Given the description of an element on the screen output the (x, y) to click on. 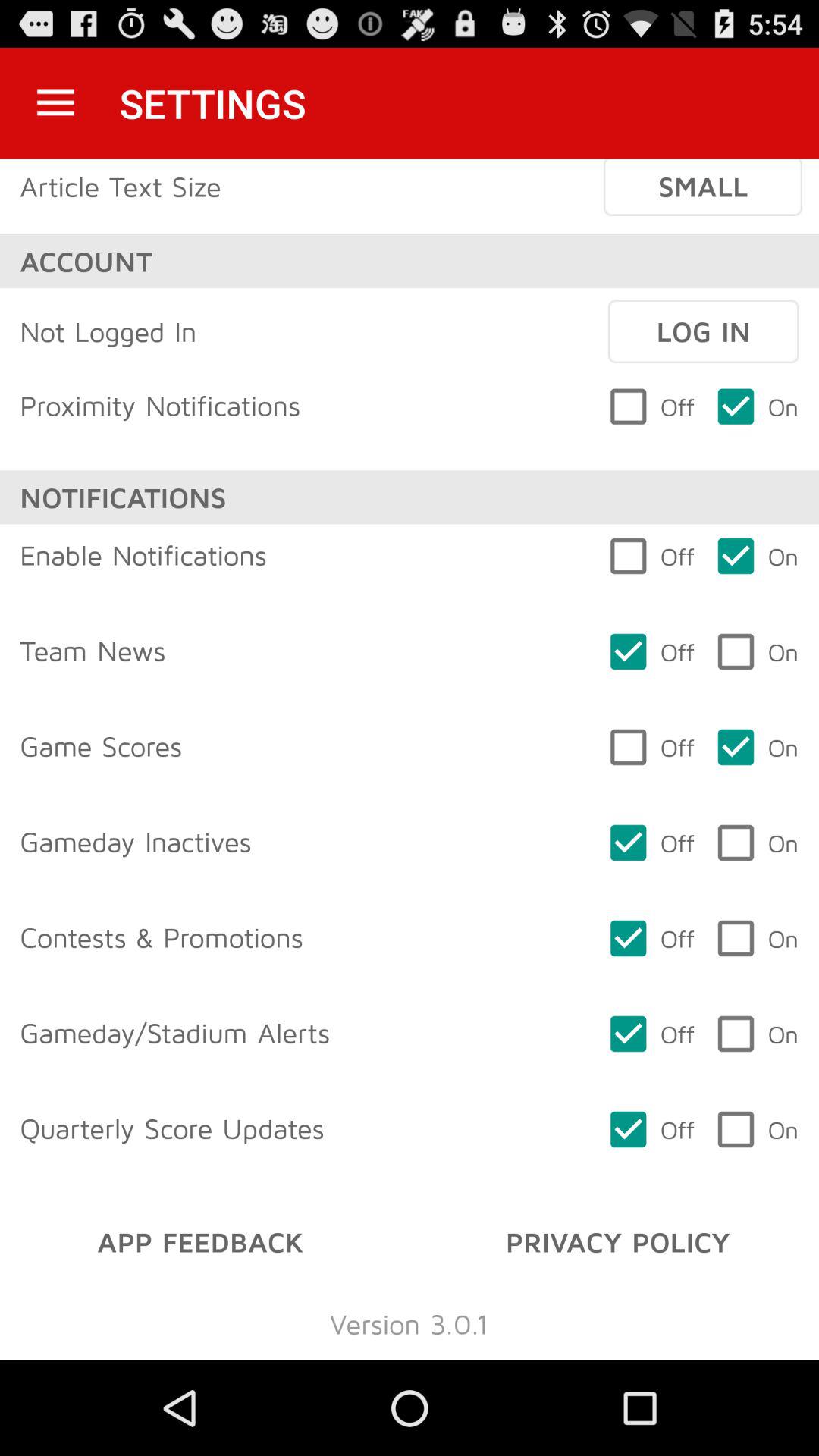
press the item next to not logged in item (703, 331)
